Given the description of an element on the screen output the (x, y) to click on. 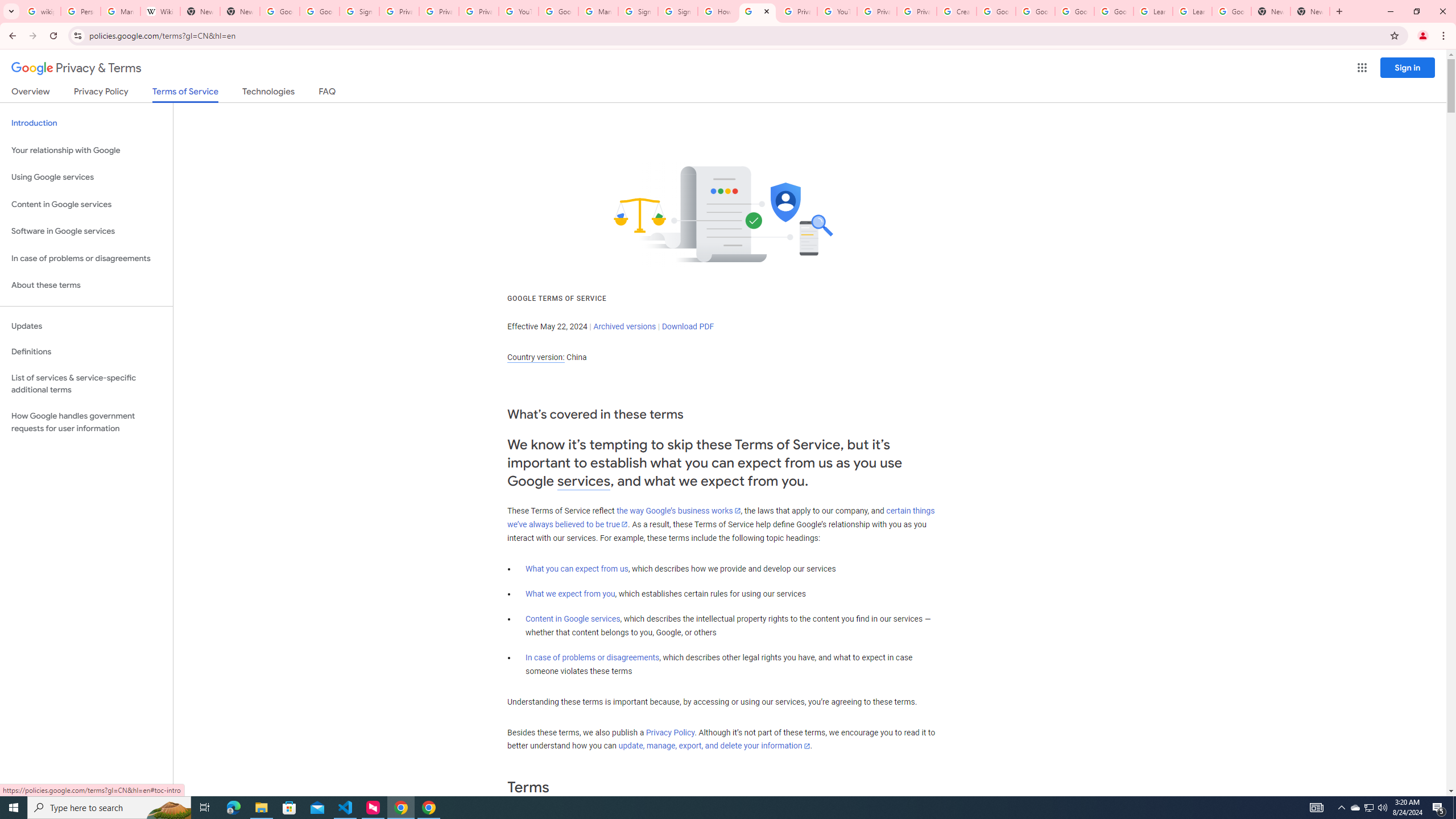
New Tab (1270, 11)
Wikipedia:Edit requests - Wikipedia (159, 11)
What you can expect from us (576, 568)
What we expect from you (570, 593)
Using Google services (86, 176)
Google Account Help (1113, 11)
Sign in - Google Accounts (637, 11)
Download PDF (687, 326)
List of services & service-specific additional terms (86, 383)
Manage your Location History - Google Search Help (120, 11)
Sign in - Google Accounts (677, 11)
